Given the description of an element on the screen output the (x, y) to click on. 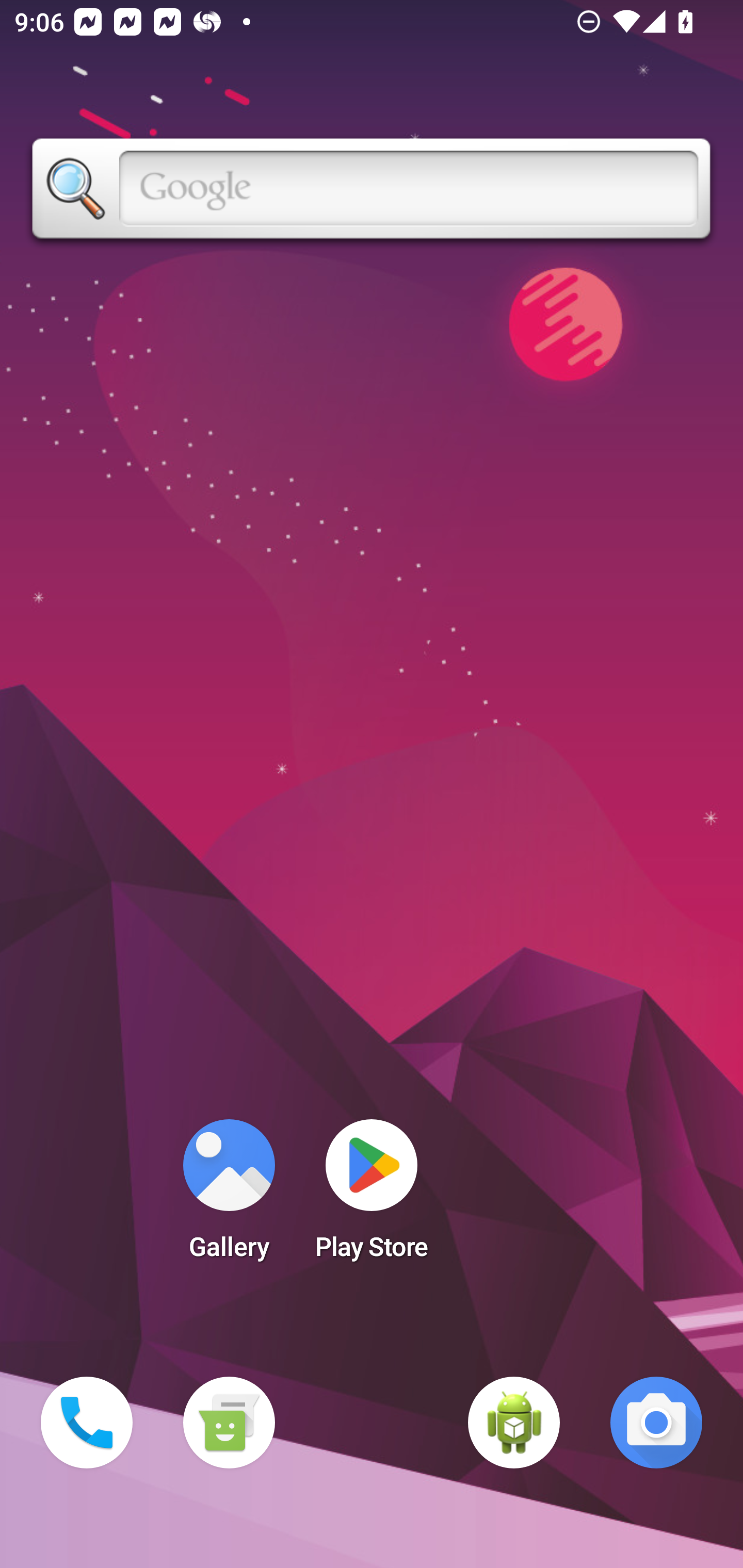
Gallery (228, 1195)
Play Store (371, 1195)
Phone (86, 1422)
Messaging (228, 1422)
WebView Browser Tester (513, 1422)
Camera (656, 1422)
